Given the description of an element on the screen output the (x, y) to click on. 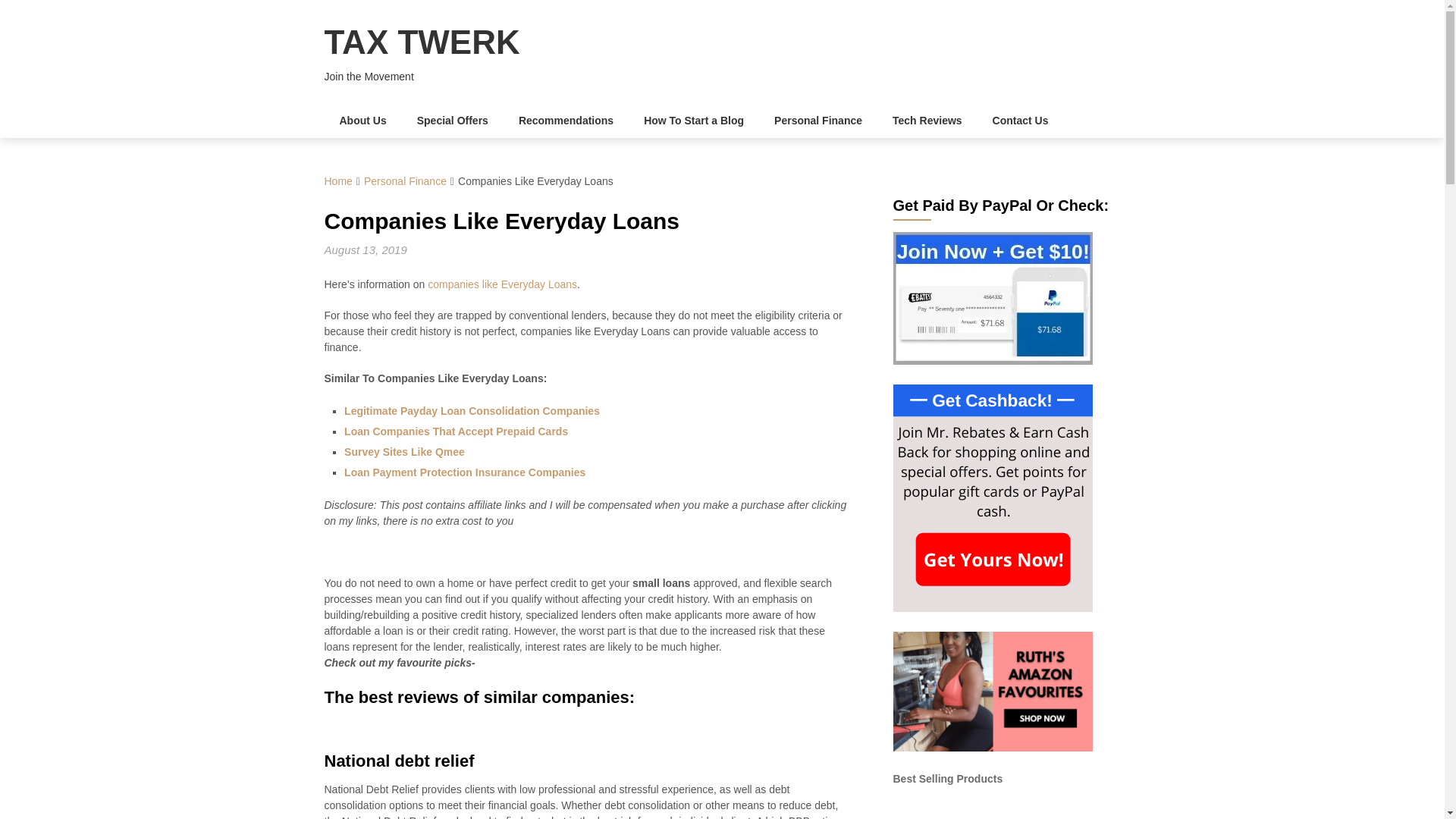
Contact Us (1020, 121)
Get Paid By PayPal Or Check: (993, 297)
TAX TWERK (421, 41)
Personal Finance (405, 181)
Loan Payment Protection Insurance Companies (464, 472)
How To Start a Blog (693, 121)
companies like Everyday Loans (502, 284)
Loan Companies That Accept Prepaid Cards (455, 431)
Tech Reviews (926, 121)
Personal Finance (817, 121)
How To Start a Blog (693, 121)
Tech Reviews (926, 121)
Recommendations (565, 121)
Recommendations (565, 121)
Legitimate Payday Loan Consolidation Companies (471, 410)
